Given the description of an element on the screen output the (x, y) to click on. 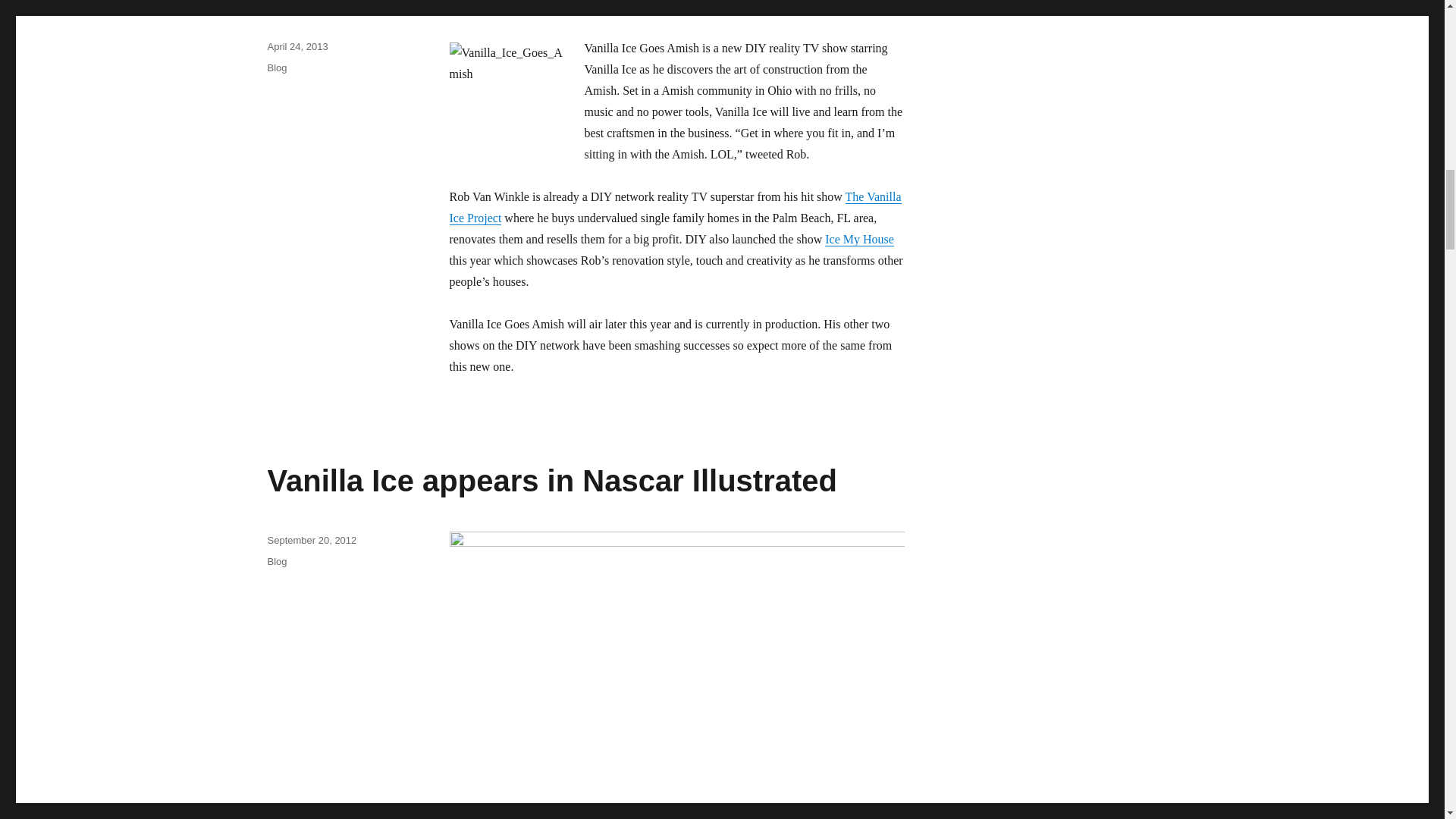
Vanilla Ice appears in Nascar Illustrated (550, 480)
Ice My House (859, 238)
Blog (276, 561)
The Vanilla Ice Project (674, 207)
September 20, 2012 (311, 540)
Blog (276, 67)
April 24, 2013 (296, 46)
